Given the description of an element on the screen output the (x, y) to click on. 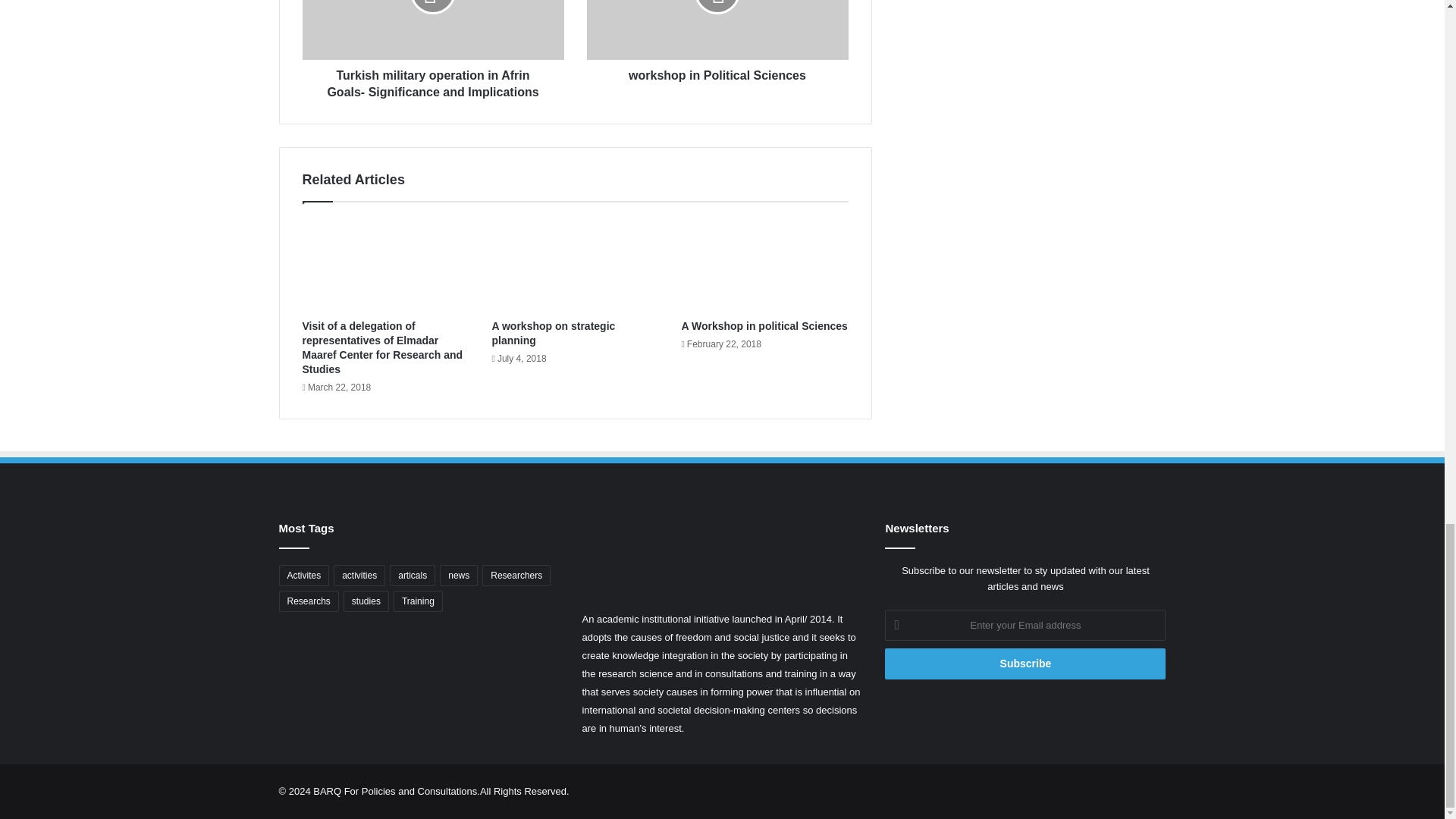
Subscribe (1025, 663)
